Given the description of an element on the screen output the (x, y) to click on. 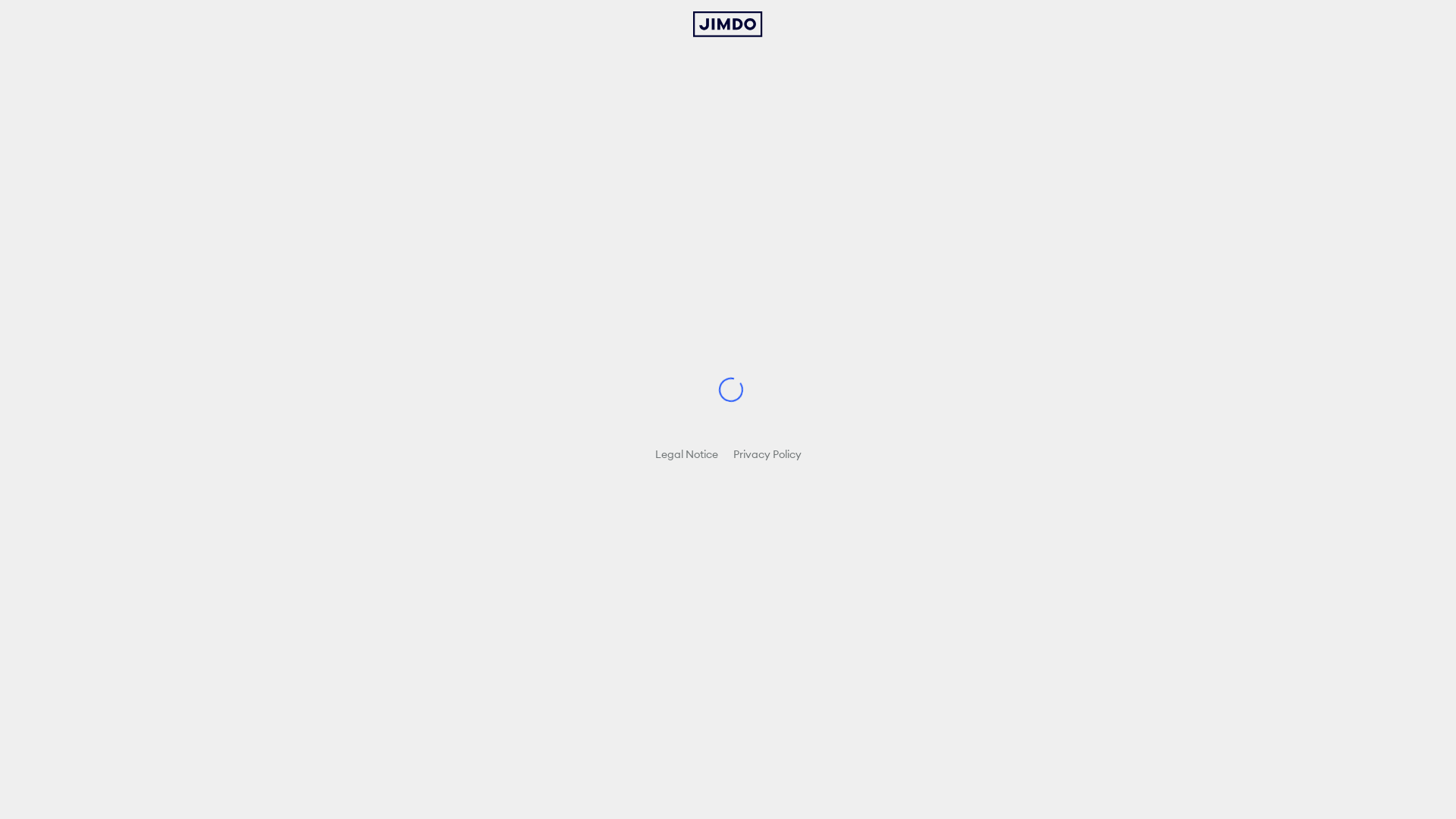
Privacy Policy Element type: text (766, 454)
Legal Notice Element type: text (686, 454)
